Given the description of an element on the screen output the (x, y) to click on. 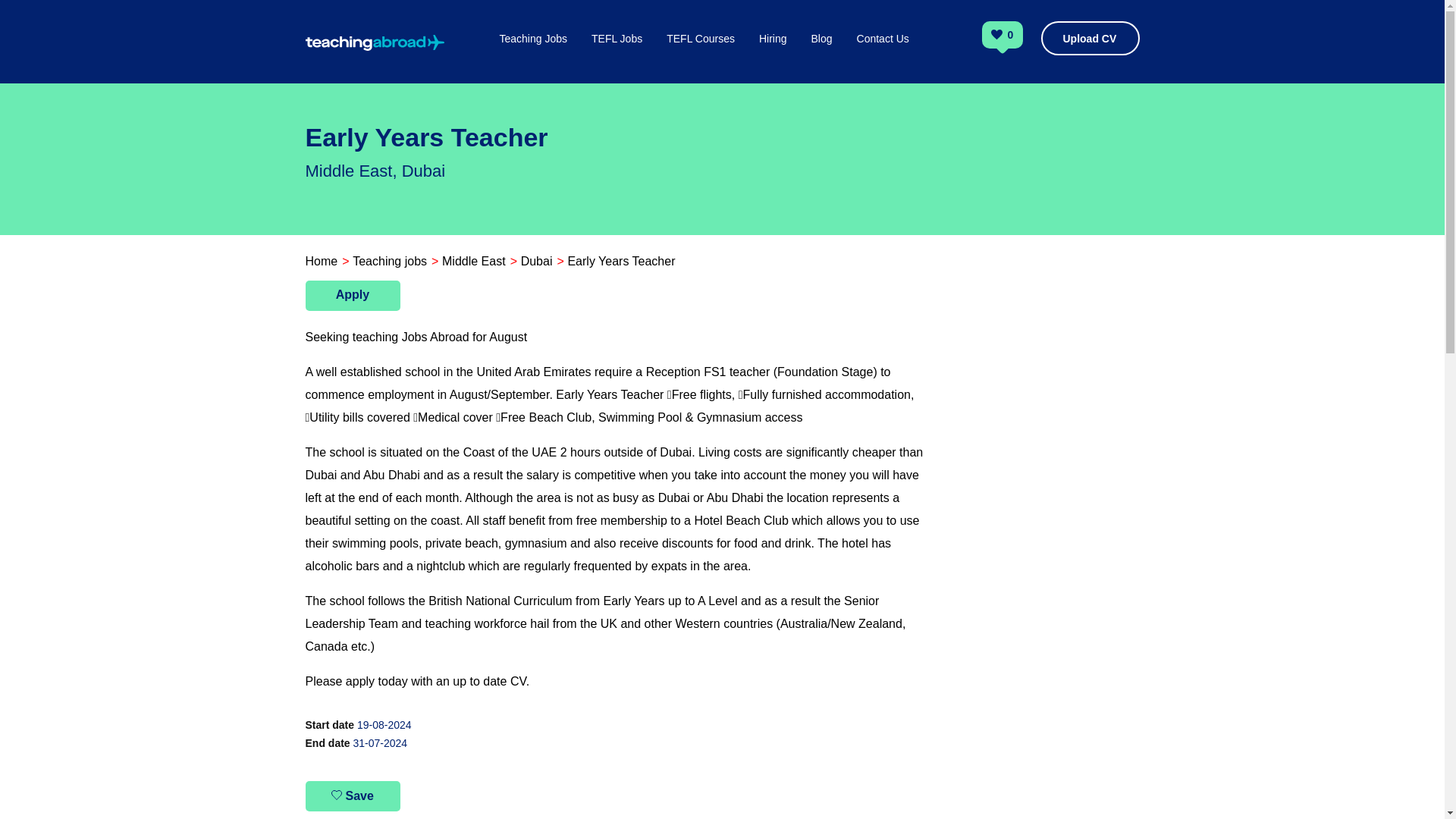
Teaching Jobs (533, 55)
Home (320, 260)
TEFL Courses (700, 55)
Dubai (537, 260)
Upload CV (1089, 38)
Teaching jobs (389, 260)
TEFL Jobs (616, 55)
Middle East (473, 260)
Contact Us (882, 55)
0 (1011, 36)
Apply (351, 295)
